Given the description of an element on the screen output the (x, y) to click on. 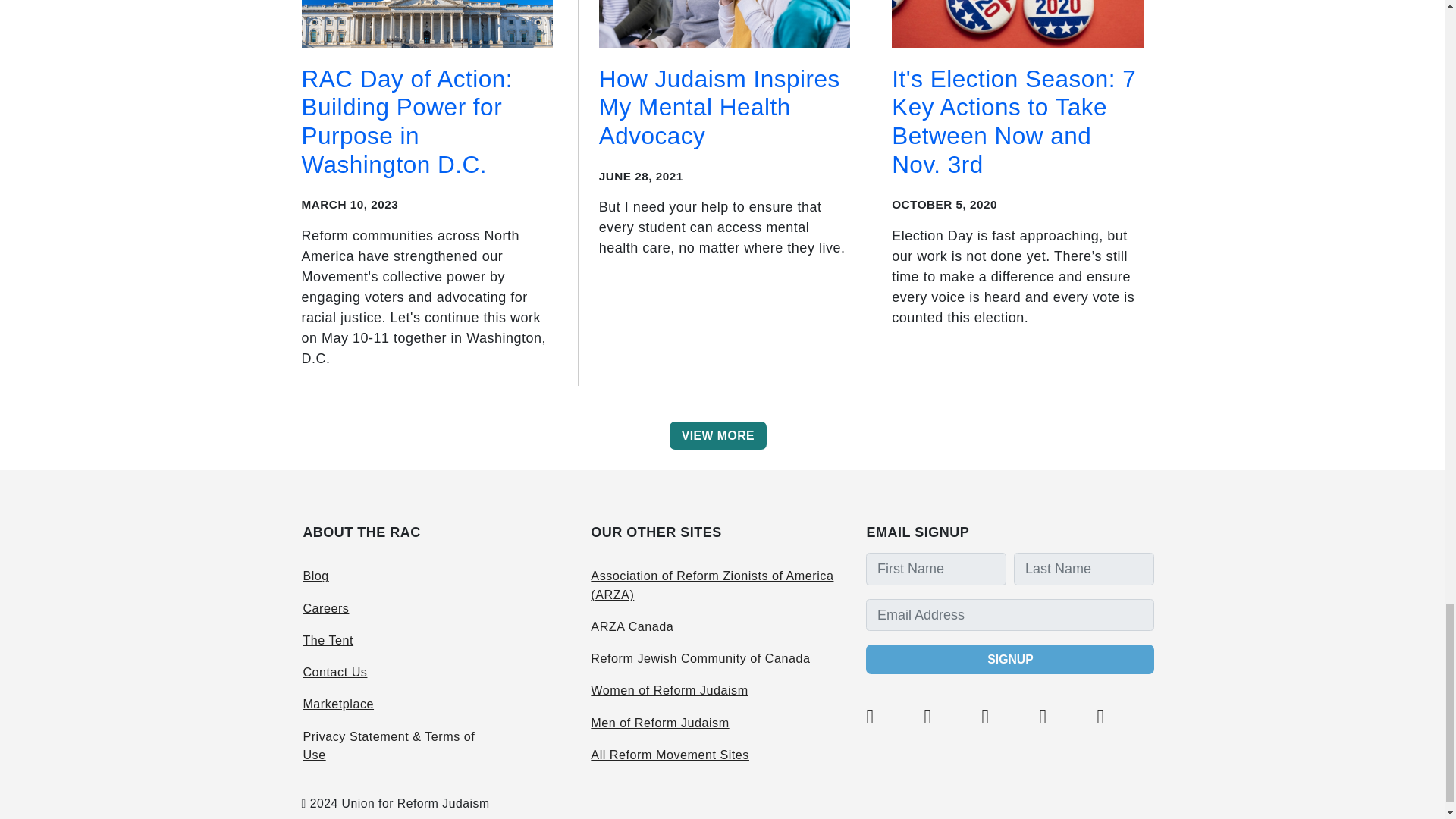
Monday, October 5, 2020 - 07:00am (944, 204)
Friday, March 10, 2023 - 05:20pm (349, 204)
Monday, June 28, 2021 - 01:04pm (640, 175)
Signup (1010, 659)
